Given the description of an element on the screen output the (x, y) to click on. 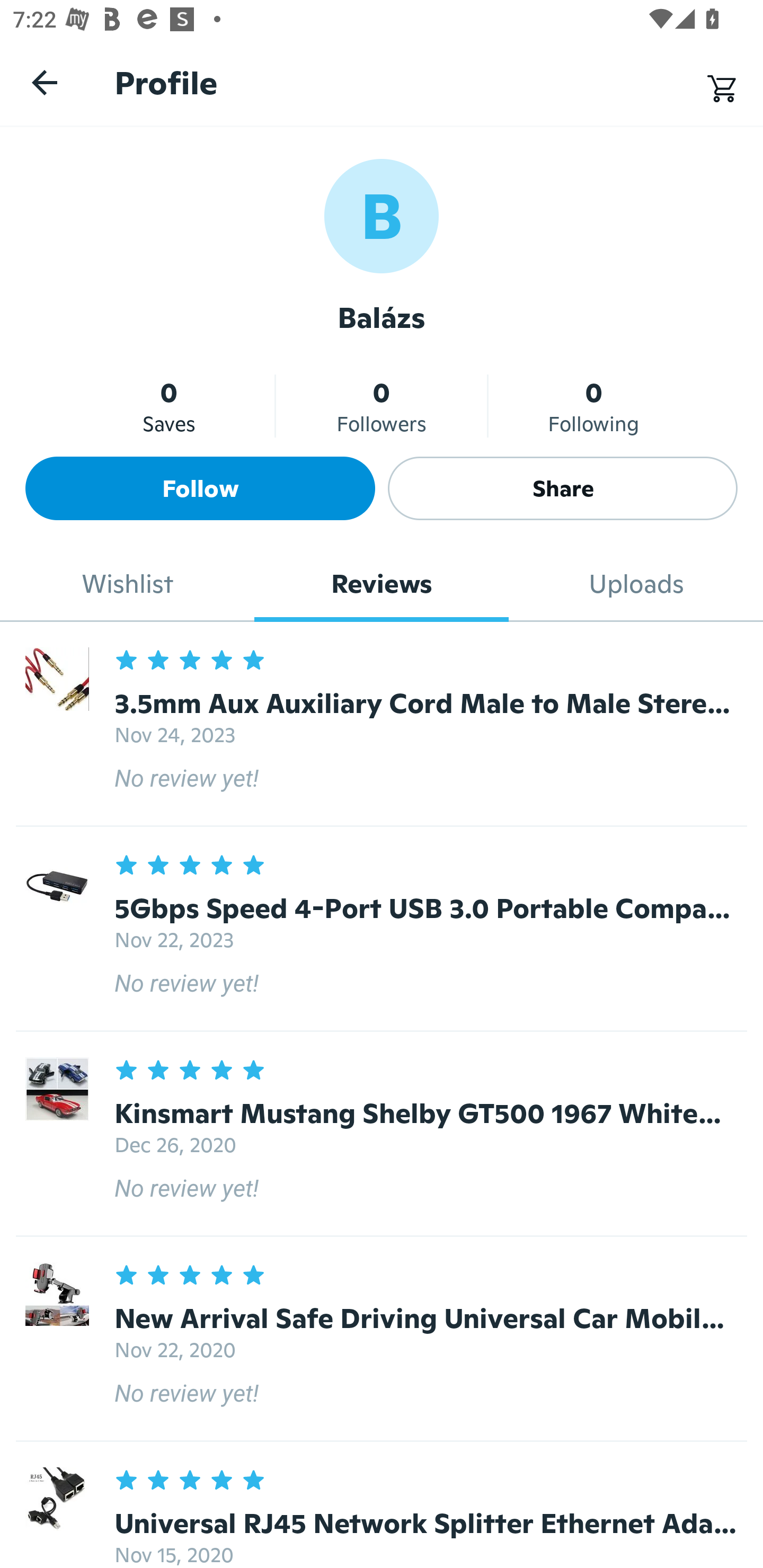
Navigate up (44, 82)
B (381, 215)
0 Followers (381, 405)
0 Following (593, 405)
Follow (200, 488)
Share (562, 488)
Wishlist (127, 583)
Reviews (381, 583)
Uploads (635, 583)
